Given the description of an element on the screen output the (x, y) to click on. 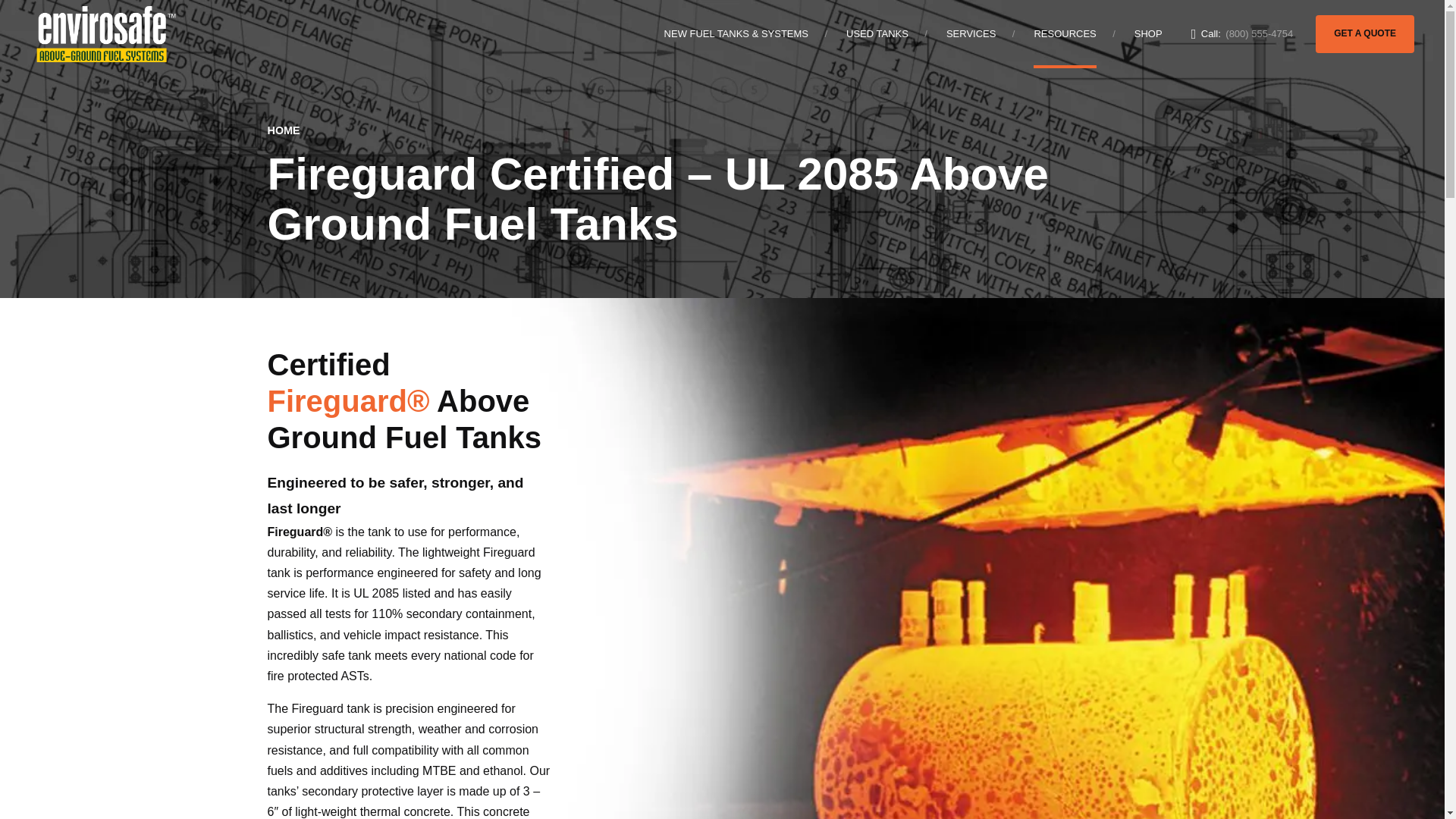
RESOURCES (1064, 33)
USED TANKS (876, 33)
GET A QUOTE (1364, 33)
